Given the description of an element on the screen output the (x, y) to click on. 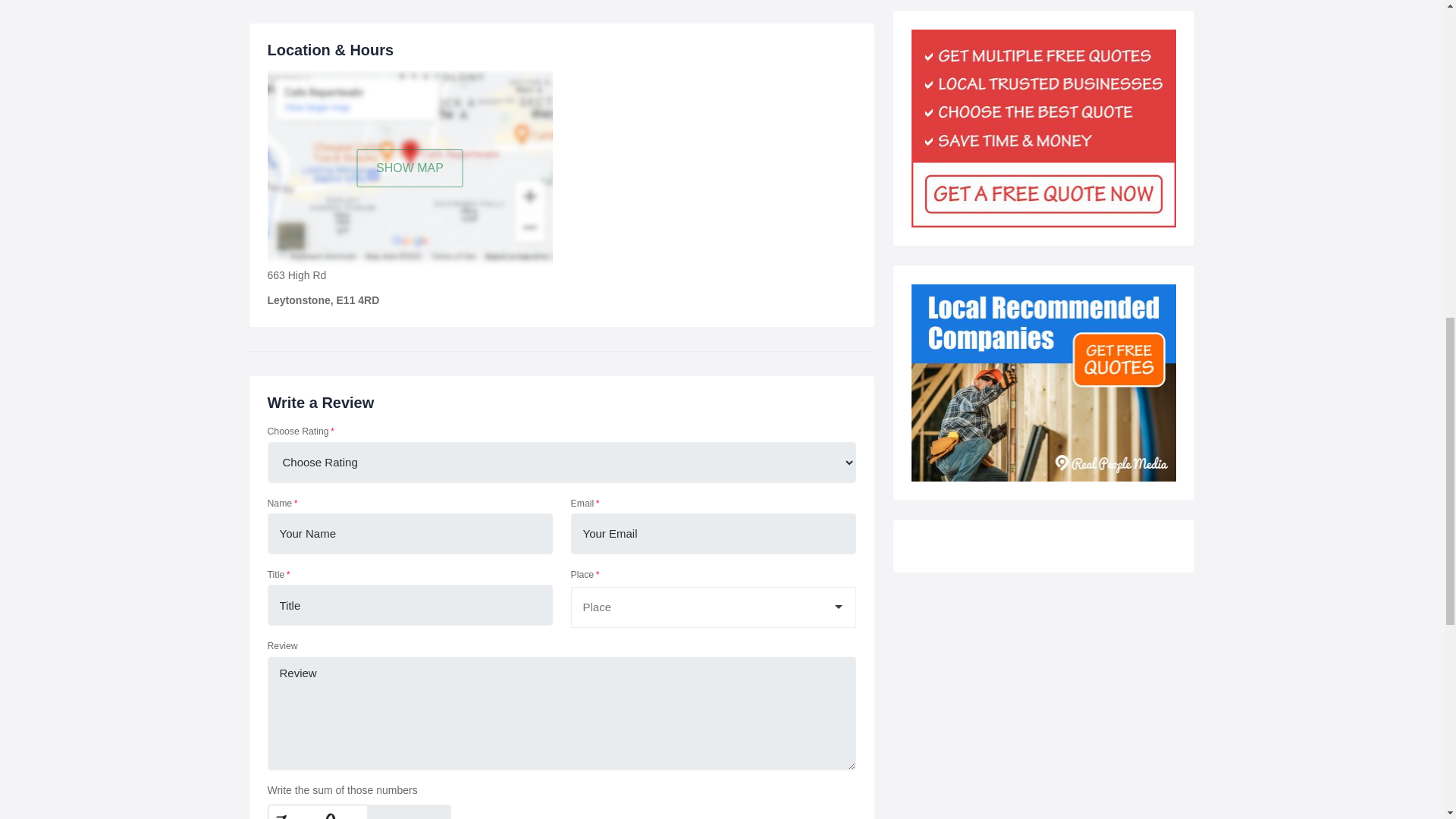
UK Business Directory (1043, 382)
SHOW MAP (409, 168)
Get a Free Quote (1043, 128)
